Given the description of an element on the screen output the (x, y) to click on. 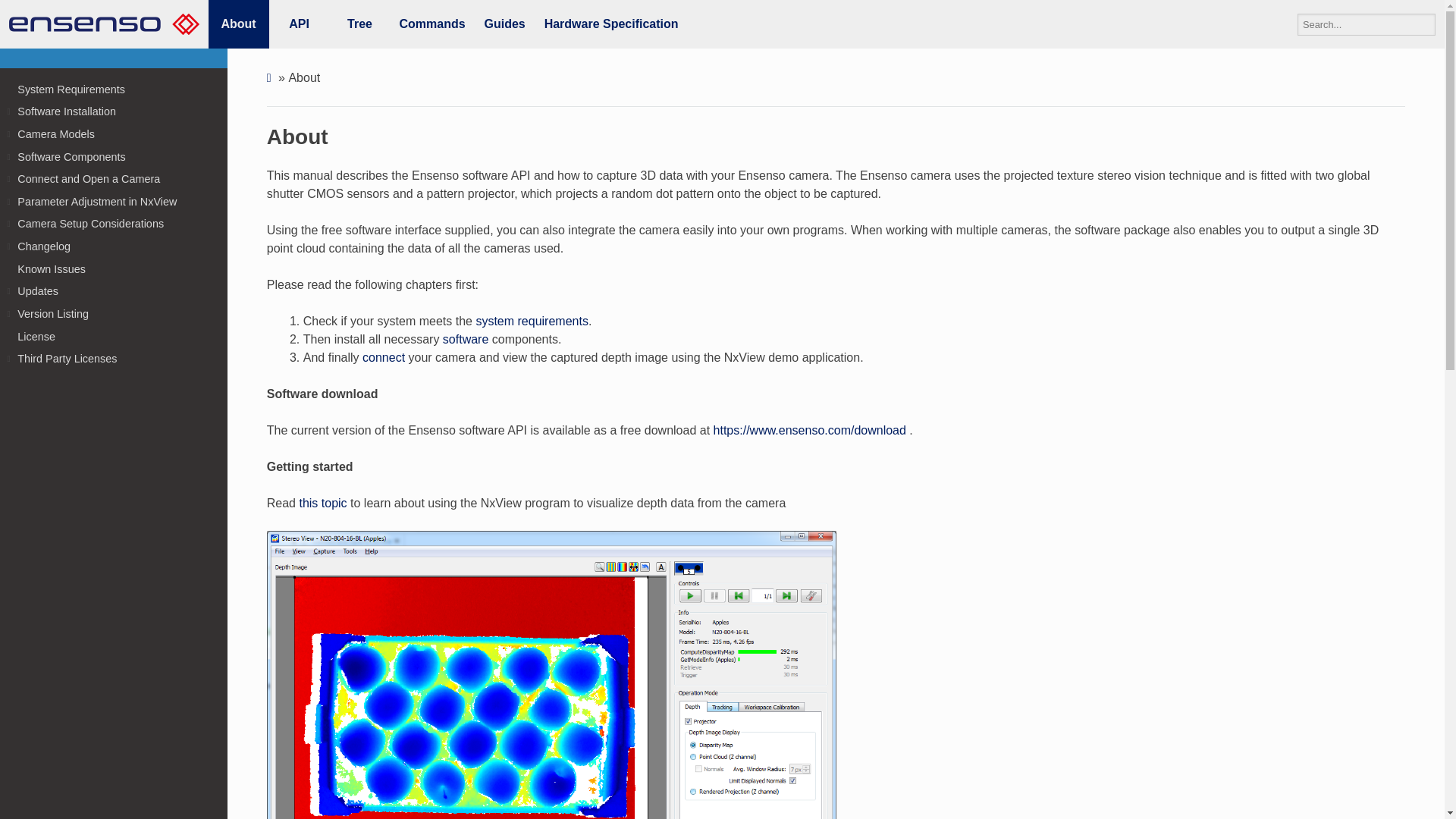
System Requirements (113, 88)
Tree (359, 24)
Commands (432, 24)
Hardware Specification (611, 24)
Connect and Open a Camera (113, 178)
API (298, 24)
Software Components (113, 156)
Guides (504, 24)
Software Installation (113, 110)
Camera Models (113, 133)
